Given the description of an element on the screen output the (x, y) to click on. 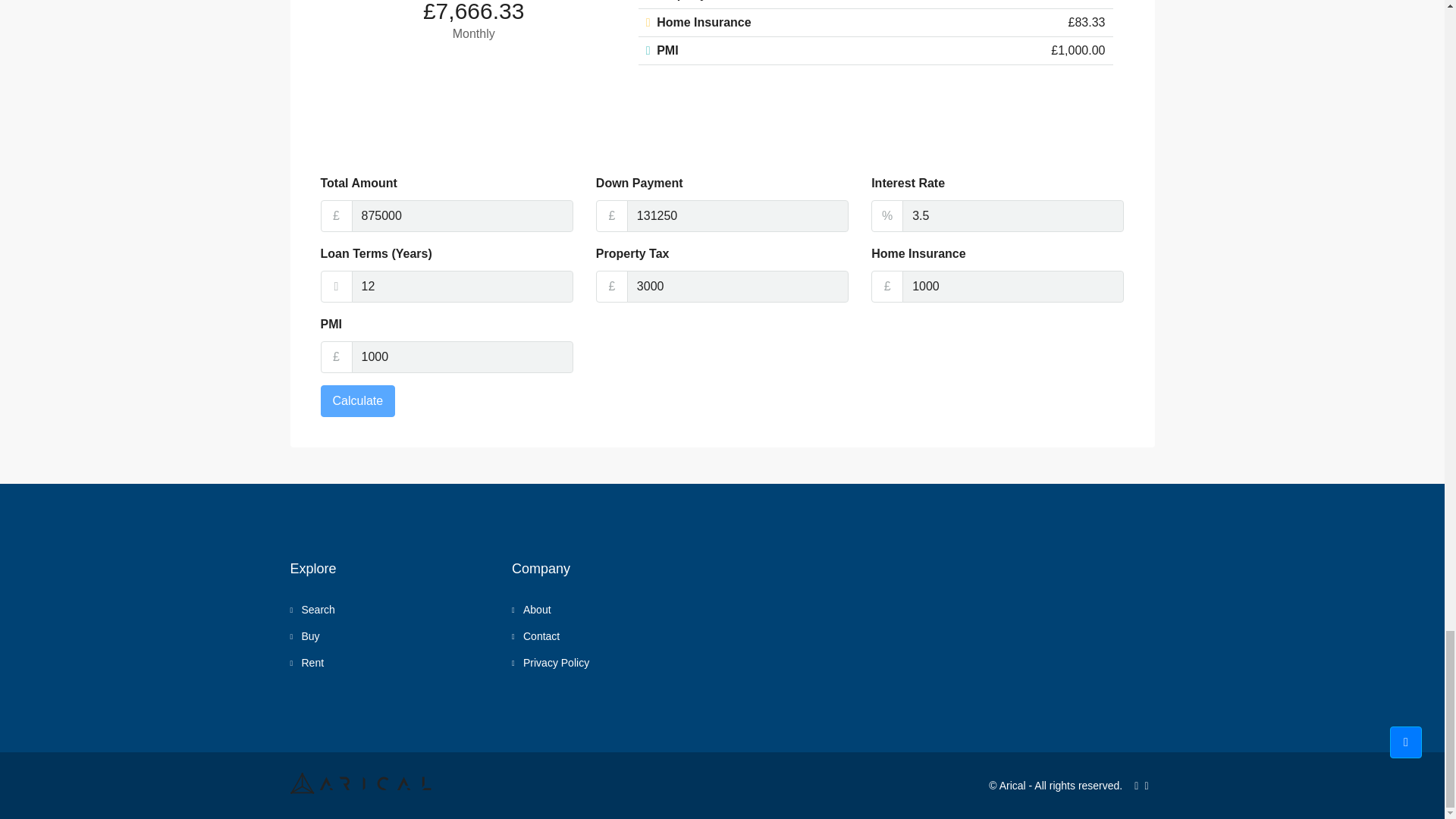
131250 (737, 215)
12 (462, 286)
3000 (737, 286)
875000 (462, 215)
1000 (462, 357)
1000 (1013, 286)
3.5 (1013, 215)
